Given the description of an element on the screen output the (x, y) to click on. 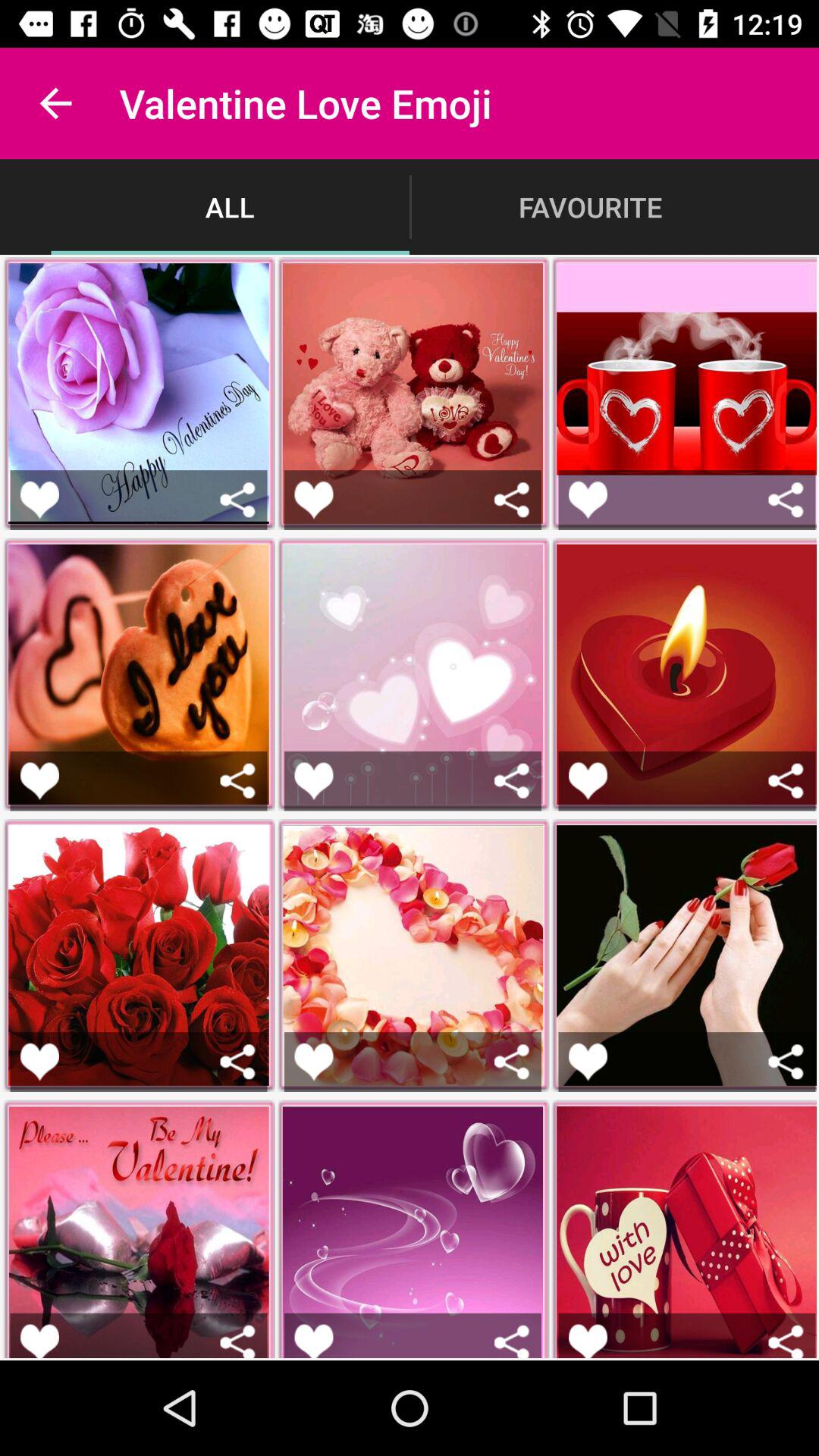
button to like an emoji (313, 780)
